Given the description of an element on the screen output the (x, y) to click on. 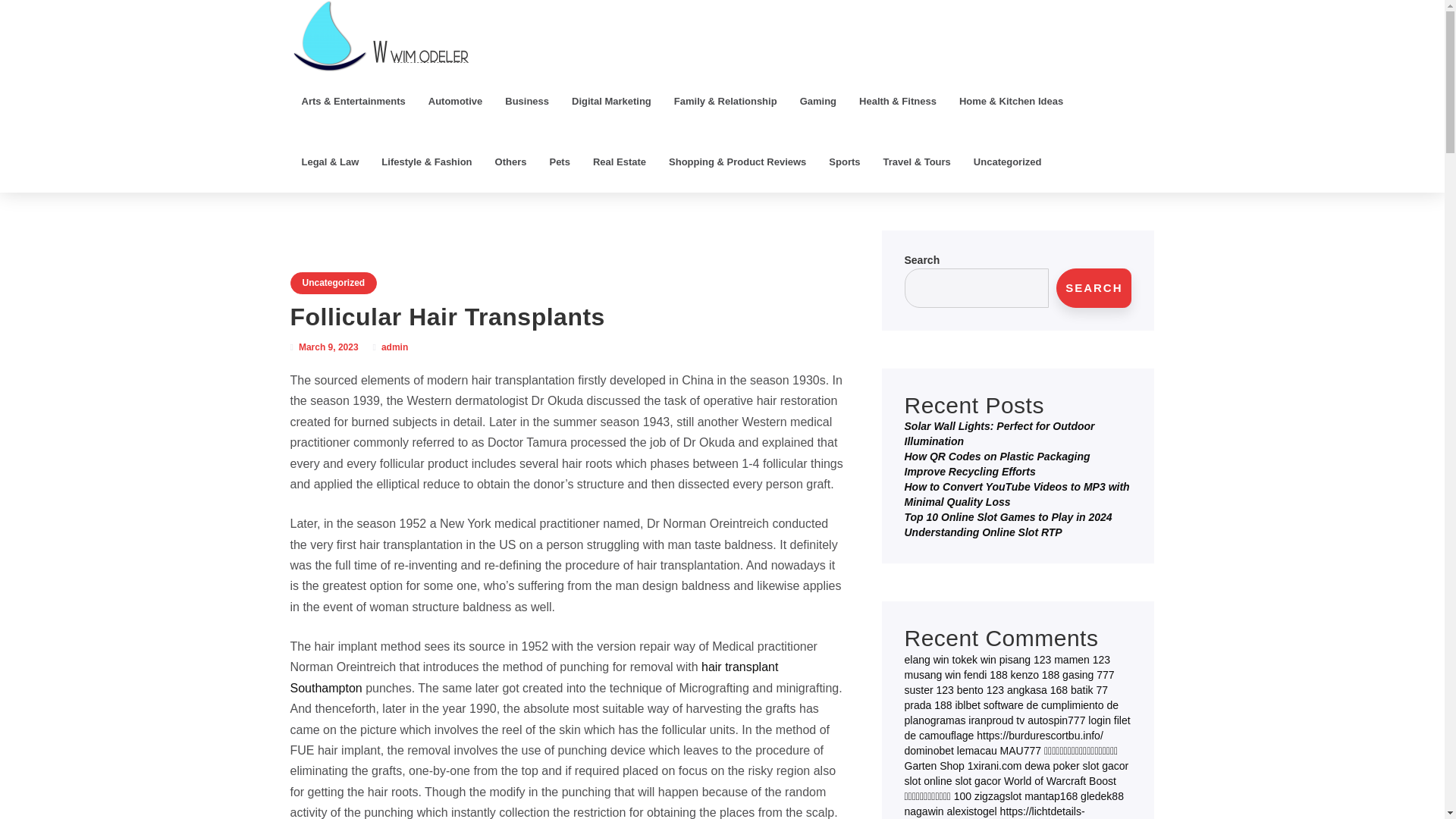
tokek win (973, 659)
gasing 777 (1088, 674)
kenzo 188 (1034, 674)
musang win (932, 674)
SEARCH (1094, 287)
mamen 123 (1081, 659)
fendi 188 (985, 674)
Understanding Online Slot RTP (982, 532)
Real Estate (619, 161)
Gaming (818, 101)
